Given the description of an element on the screen output the (x, y) to click on. 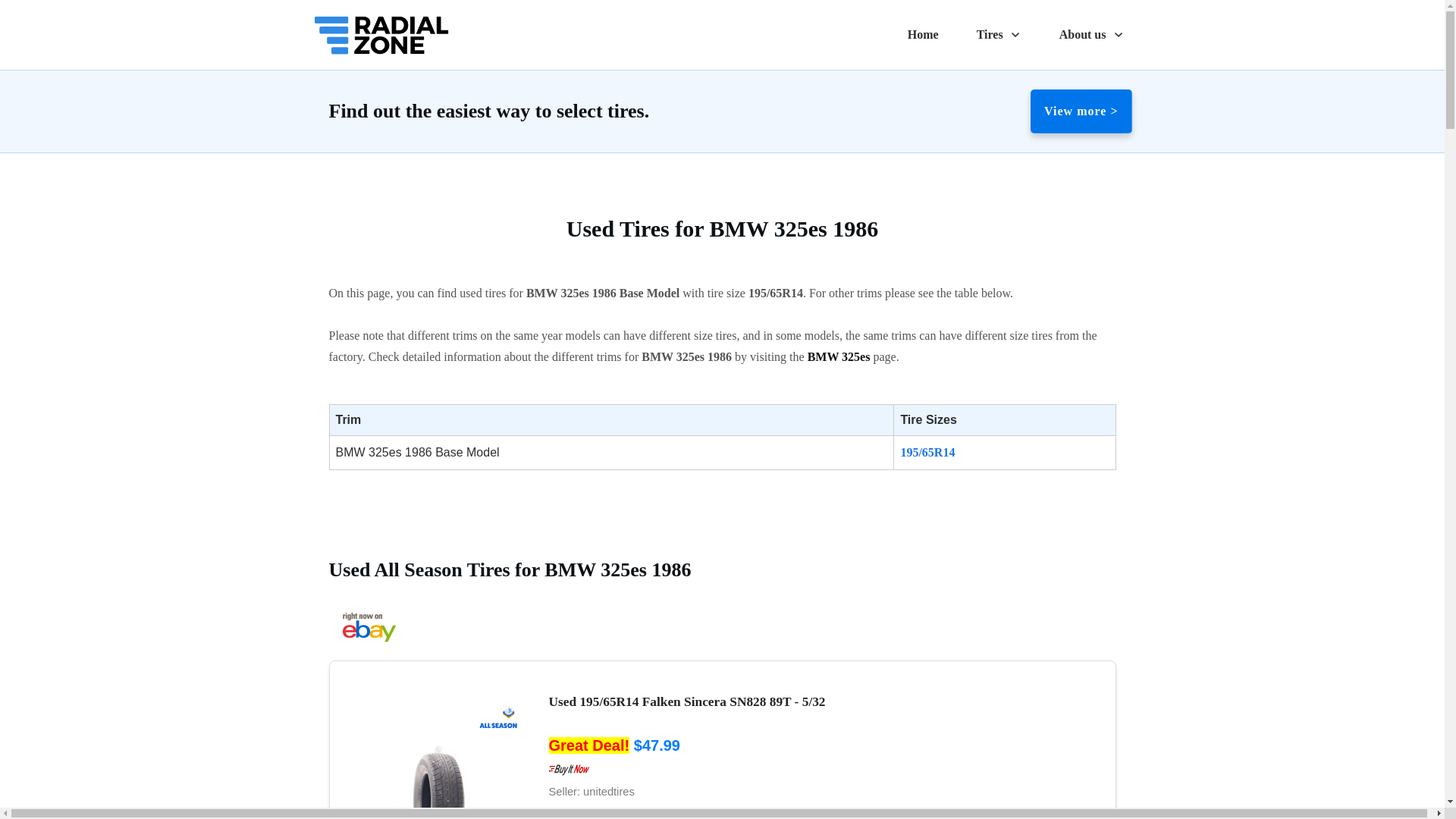
Home (923, 34)
About us (1091, 34)
Tires (999, 34)
BMW 325es (839, 356)
